Given the description of an element on the screen output the (x, y) to click on. 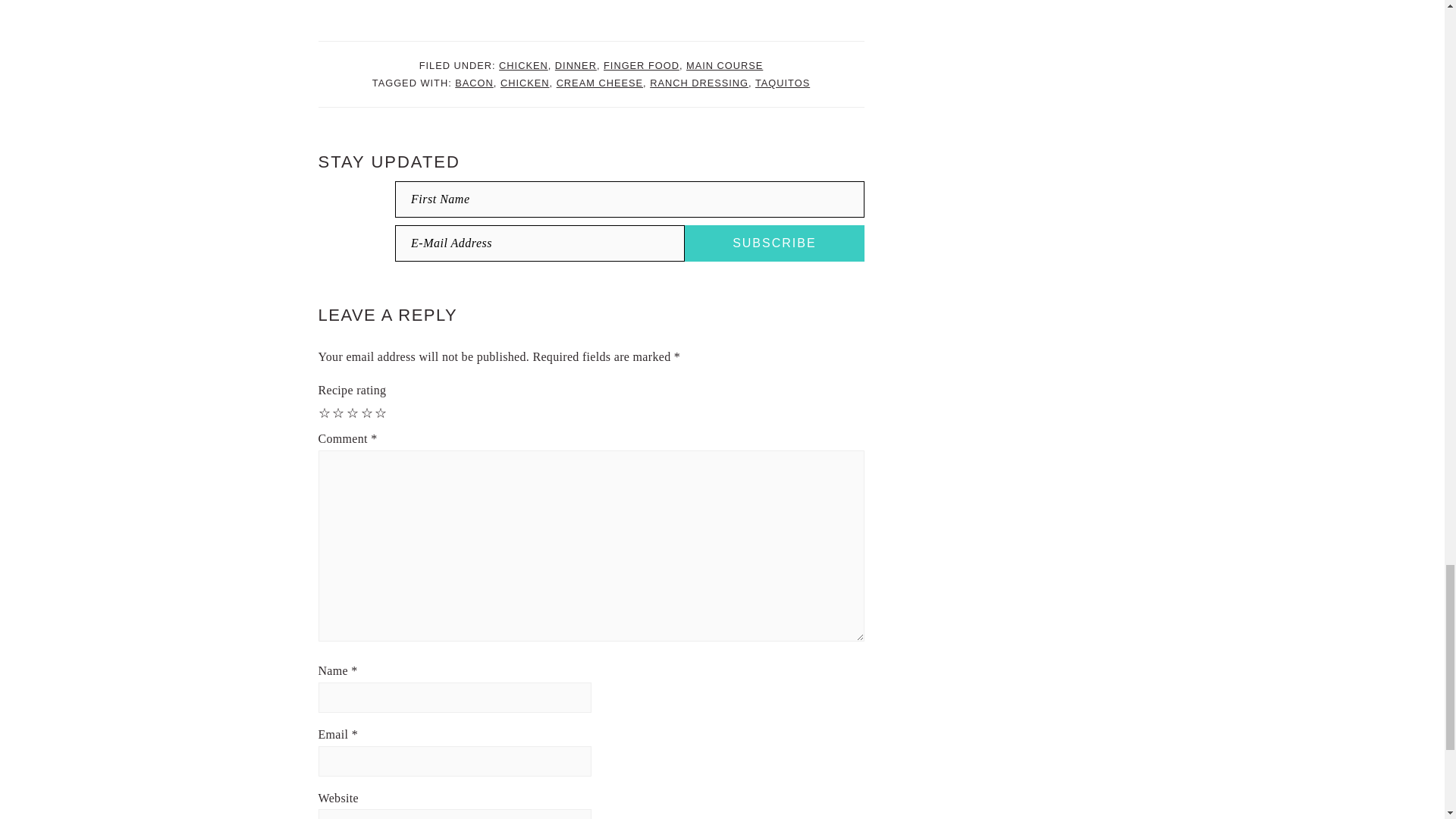
DINNER (575, 65)
CHICKEN (525, 82)
MAIN COURSE (723, 65)
CREAM CHEESE (599, 82)
Subscribe (773, 243)
BACON (473, 82)
FINGER FOOD (641, 65)
CHICKEN (523, 65)
